Given the description of an element on the screen output the (x, y) to click on. 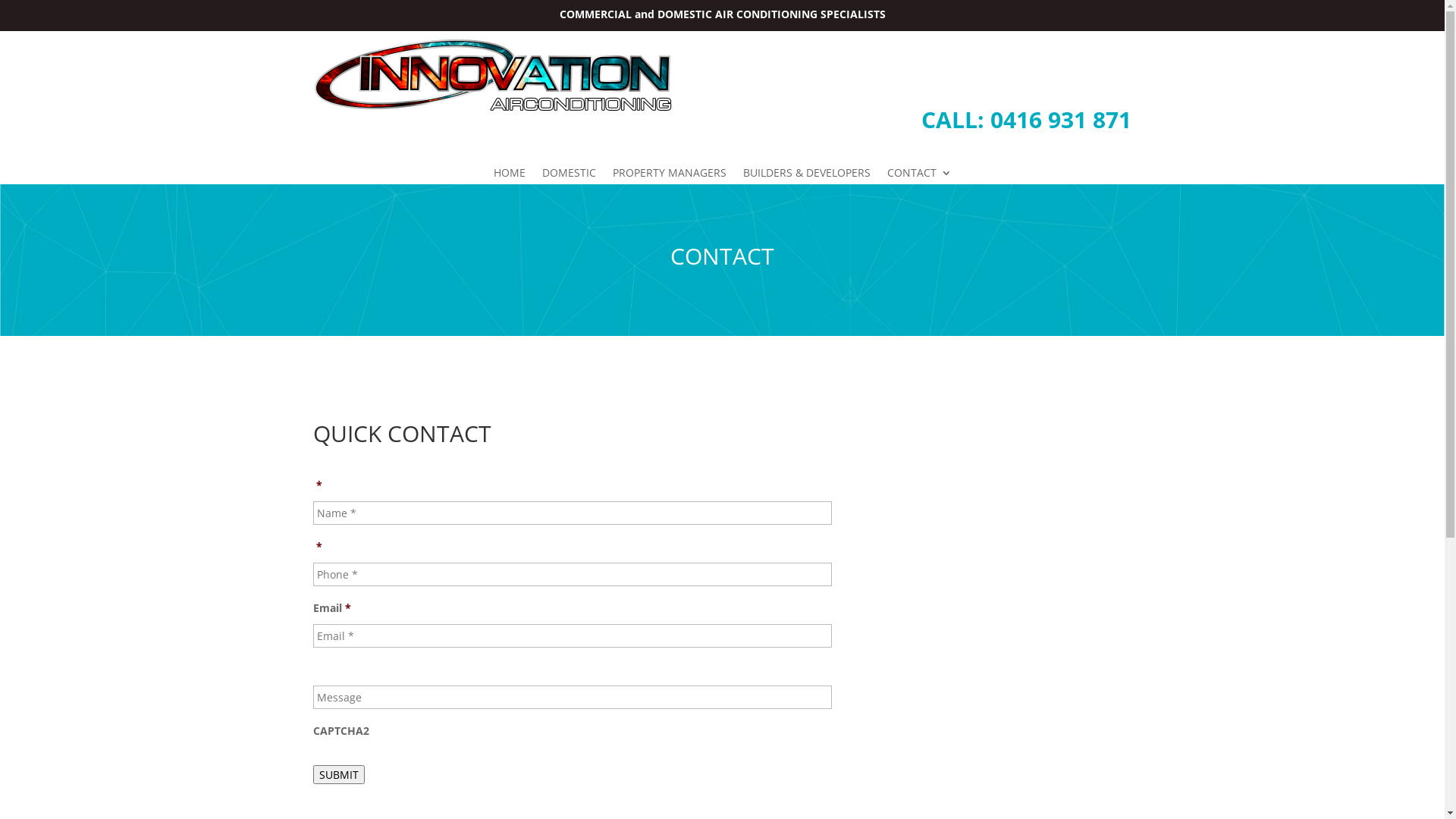
PROPERTY MANAGERS Element type: text (669, 175)
HOME Element type: text (508, 175)
INSTANT QUOTE Element type: text (1055, 67)
DOMESTIC Element type: text (568, 175)
CONTACT Element type: text (919, 175)
CALL: 0416 931 871 Element type: text (1026, 118)
BUILDERS & DEVELOPERS Element type: text (806, 175)
SUBMIT Element type: text (338, 774)
